Given the description of an element on the screen output the (x, y) to click on. 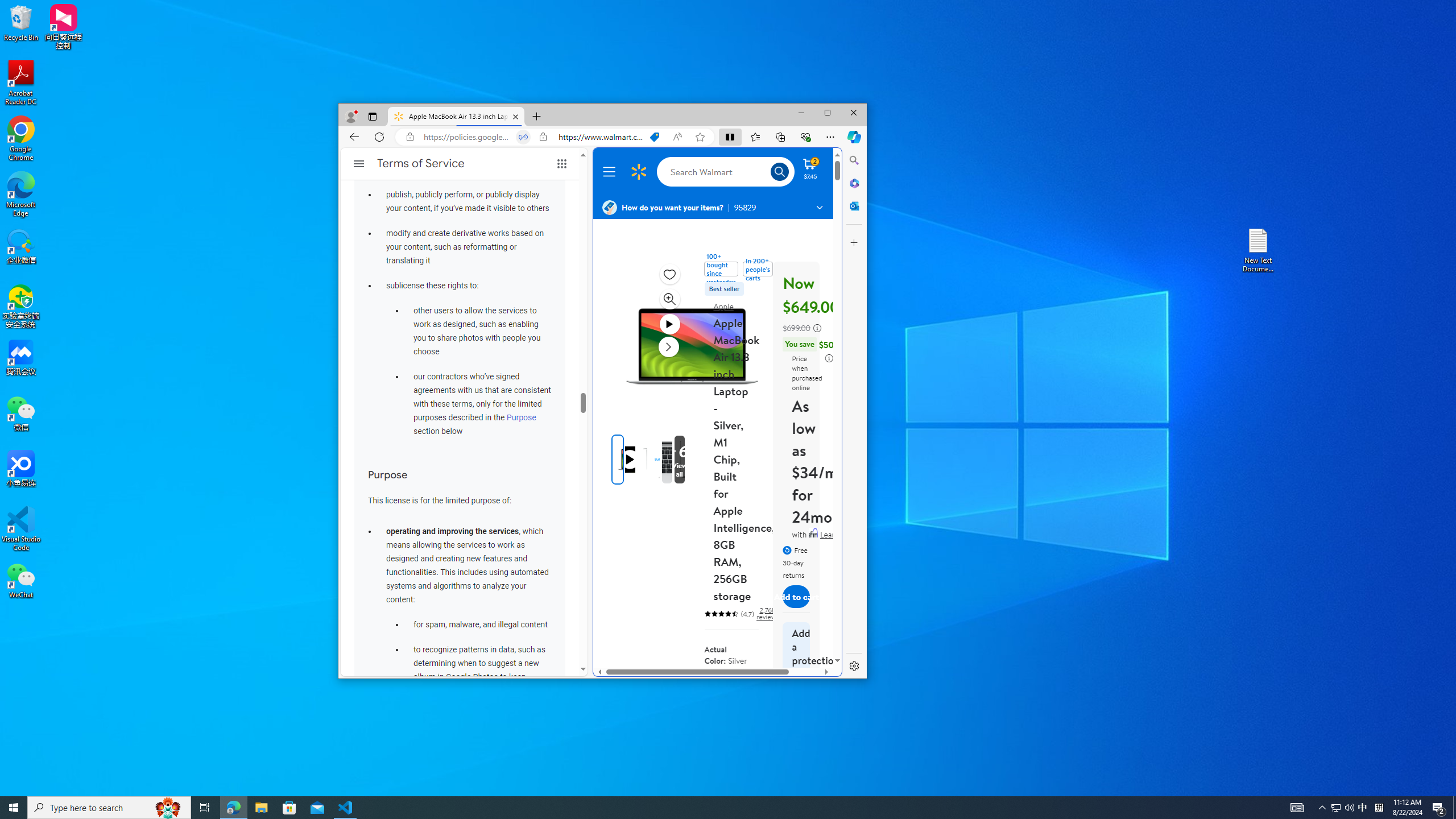
Tabs in split screen (522, 136)
Apple (723, 306)
Menu (611, 171)
Type here to search (108, 807)
Microsoft Store (289, 807)
2,768 reviews (766, 613)
Gold Gold, $649.00 (715, 692)
Start (13, 807)
View video (669, 323)
Google Chrome (21, 138)
Visual Studio Code (21, 528)
Acrobat Reader DC (21, 82)
